Given the description of an element on the screen output the (x, y) to click on. 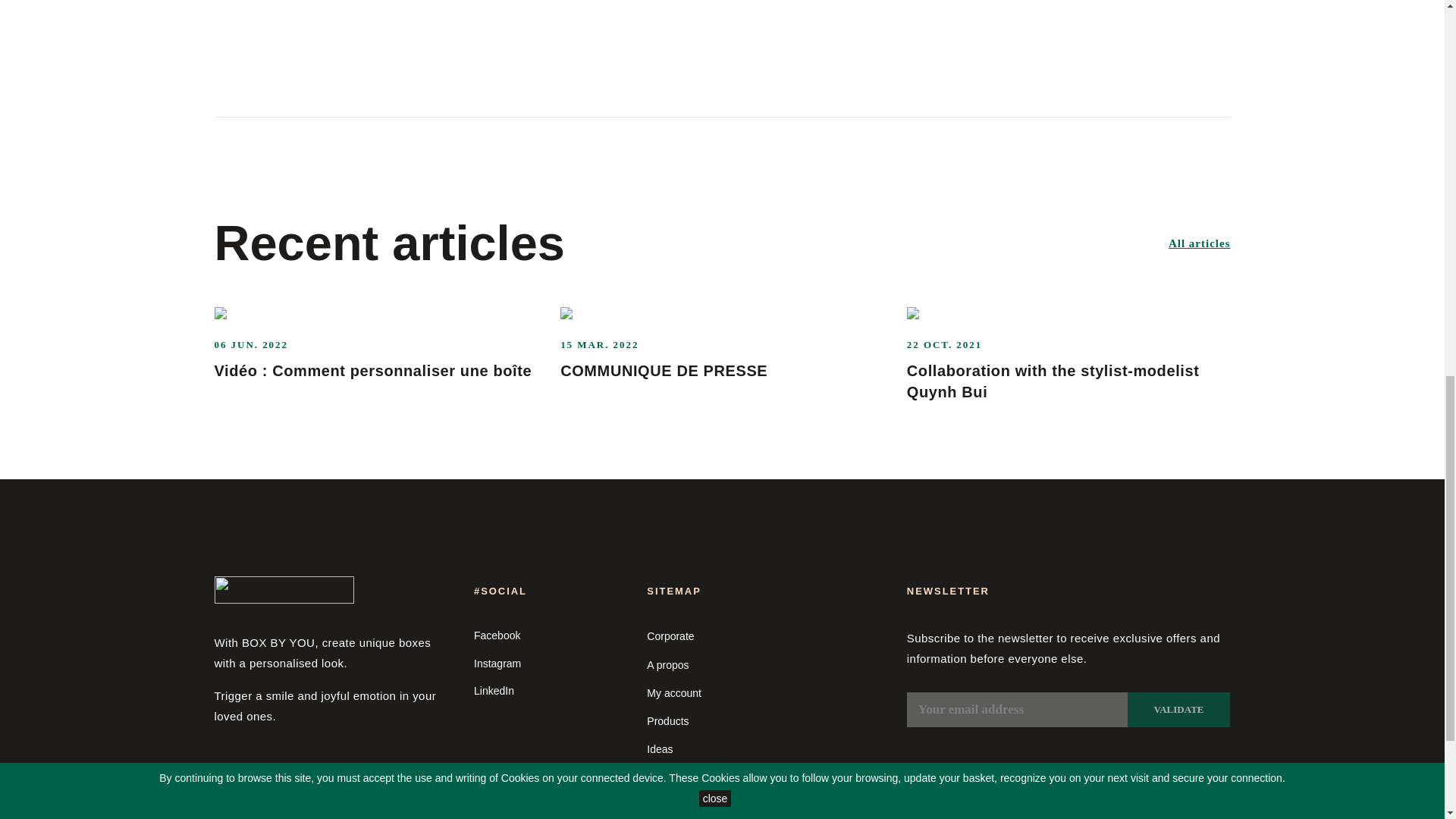
COMMUNIQUE DE PRESSE (663, 370)
Validate (1178, 709)
LinkedIn (549, 691)
Products (667, 720)
My account (673, 693)
Instagram (549, 663)
Ideas (659, 748)
Corporate (670, 635)
COMMUNIQUE DE PRESSE (663, 370)
Collaboration with the stylist-modelist Quynh Bui (1053, 381)
